Given the description of an element on the screen output the (x, y) to click on. 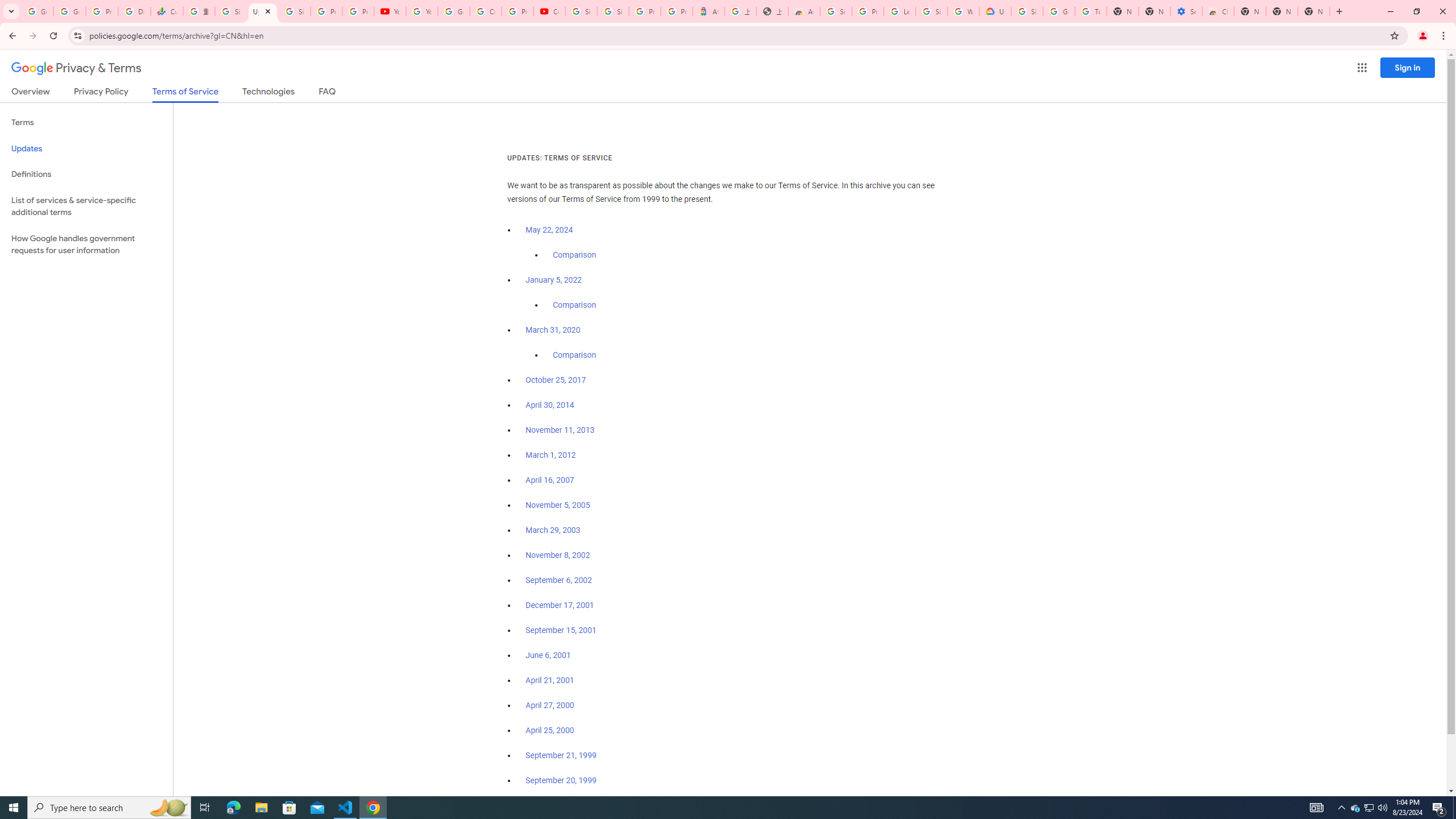
September 6, 2002 (558, 579)
Privacy Checkup (358, 11)
Sign in - Google Accounts (613, 11)
October 25, 2017 (555, 380)
April 16, 2007 (550, 480)
Create your Google Account (485, 11)
